Given the description of an element on the screen output the (x, y) to click on. 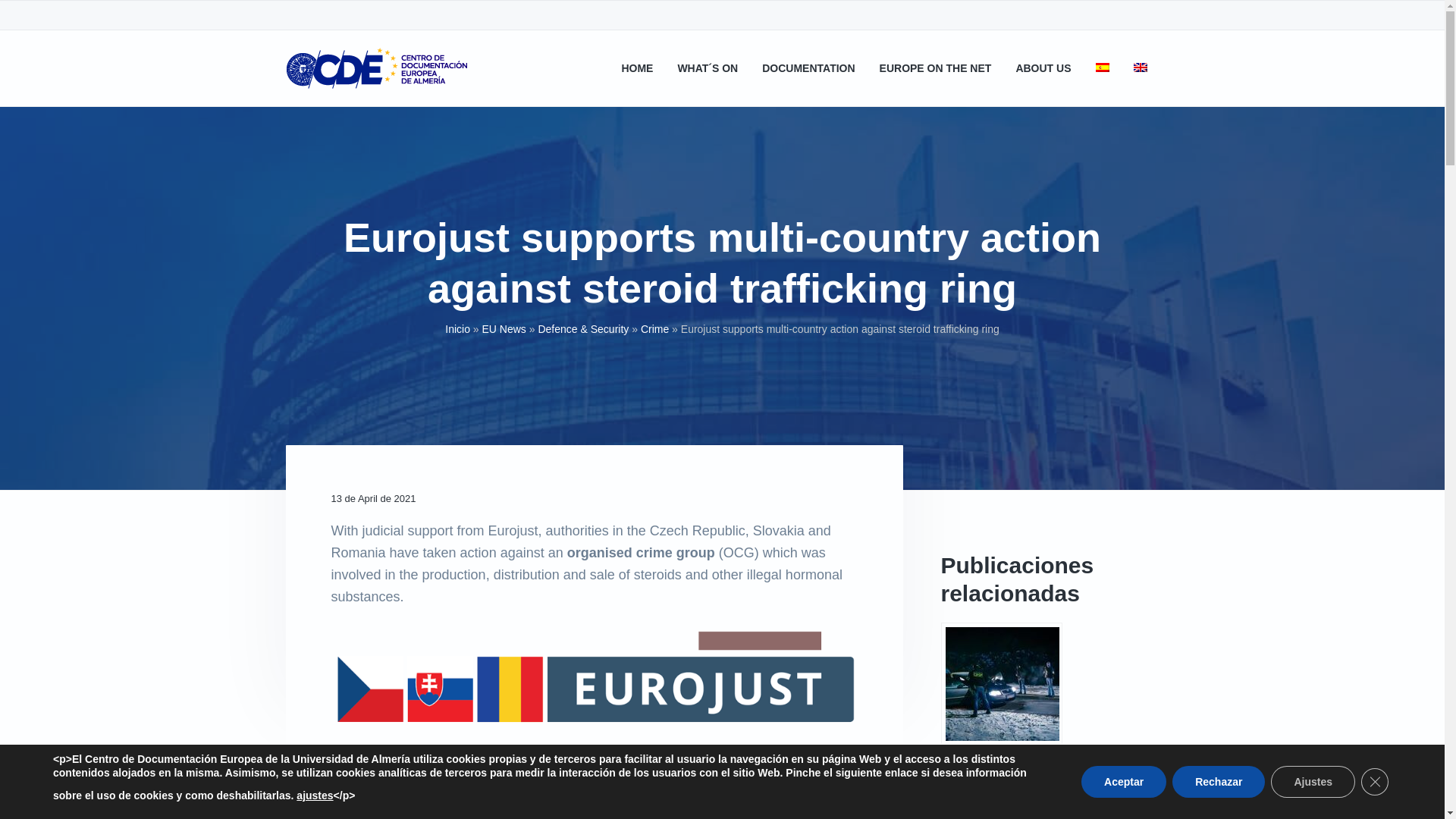
ABOUT US (1042, 67)
DOCUMENTATION (807, 67)
EUROPE ON THE NET (935, 67)
HOME (636, 67)
Successful hit against drug trafficking in the EU (1000, 720)
